Given the description of an element on the screen output the (x, y) to click on. 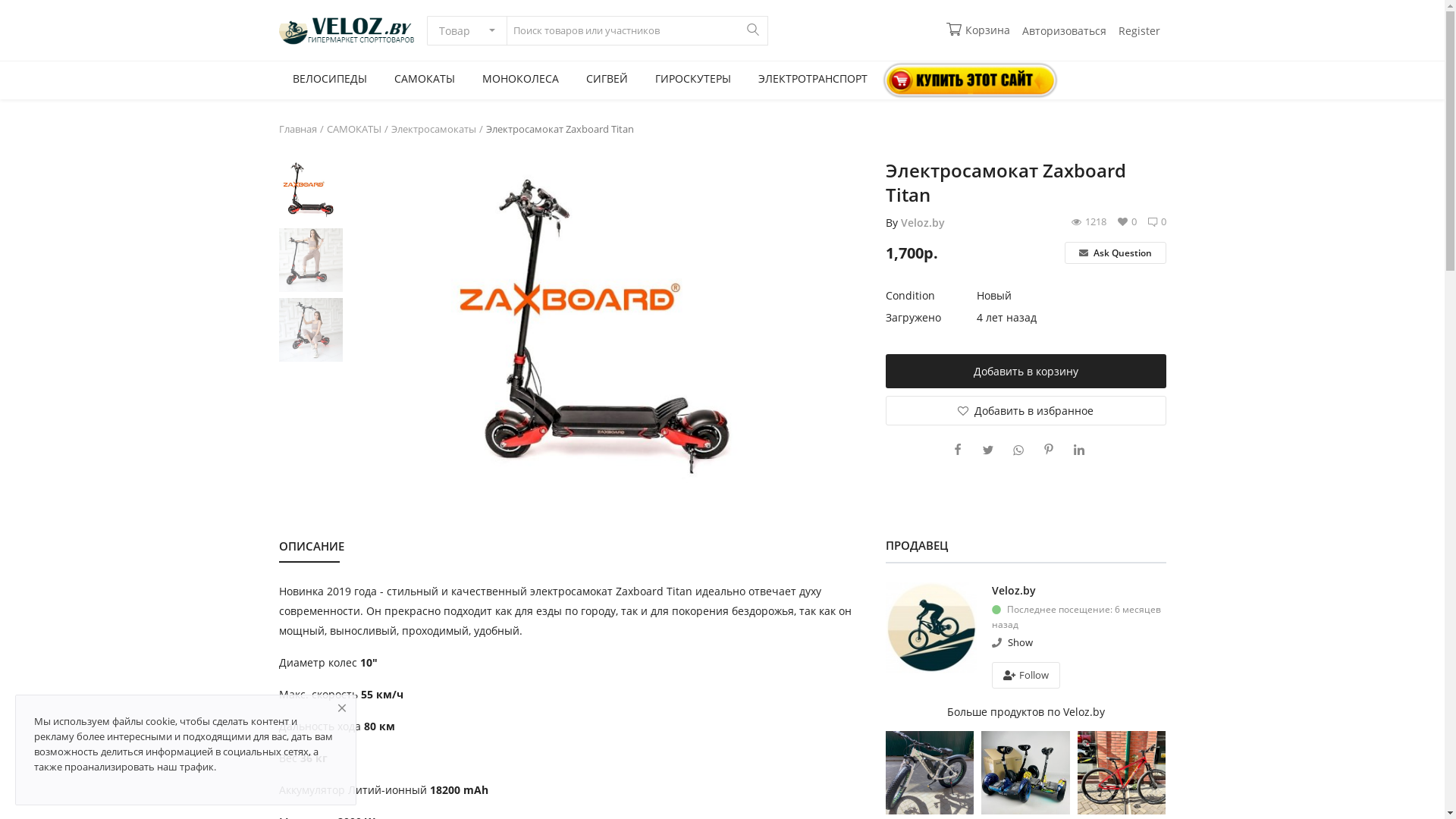
Veloz.by Element type: text (922, 222)
Ask Question Element type: text (1114, 252)
Register Element type: text (1138, 30)
 Follow Element type: text (1025, 675)
Veloz.by Element type: text (1013, 590)
Show Element type: text (1019, 642)
